Given the description of an element on the screen output the (x, y) to click on. 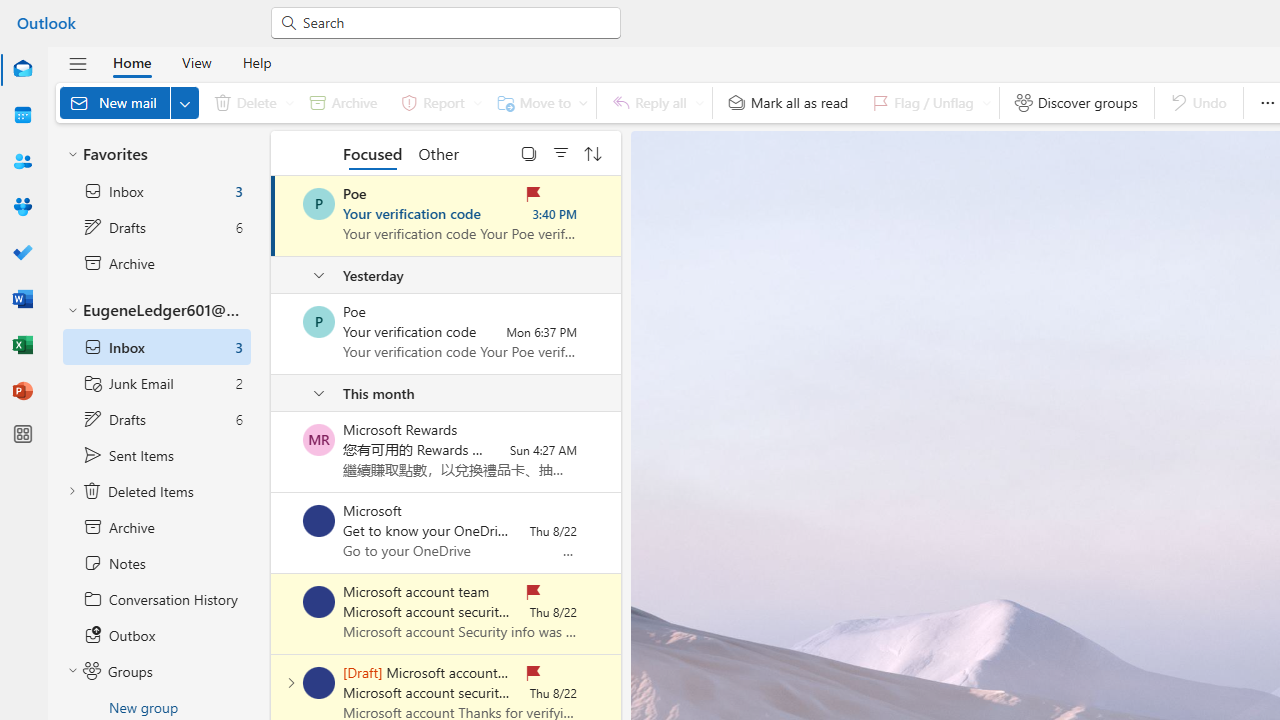
Expand to see more report options (477, 102)
Excel (22, 345)
More apps (22, 434)
Flag / Unflag (927, 102)
Expand conversation (291, 682)
Move to (538, 102)
Sorted: By Date (593, 152)
Mail (22, 69)
Inbox 3 unread (156, 190)
Report (437, 102)
Groups (156, 671)
Expand to see more respond options (699, 102)
Mark as read (273, 215)
Discover groups (1076, 102)
